Given the description of an element on the screen output the (x, y) to click on. 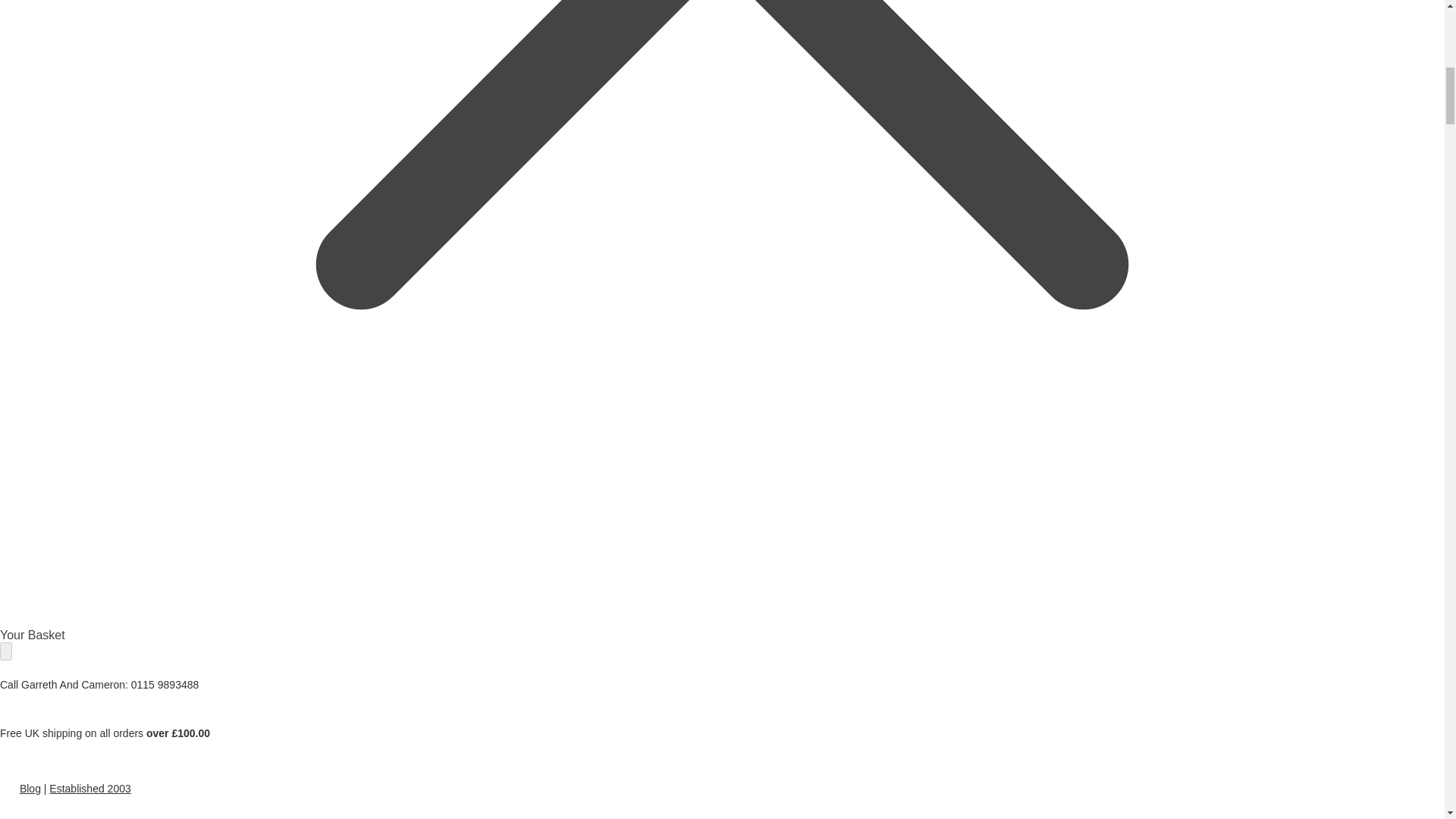
Blog (30, 788)
Established 2003 (90, 788)
